Given the description of an element on the screen output the (x, y) to click on. 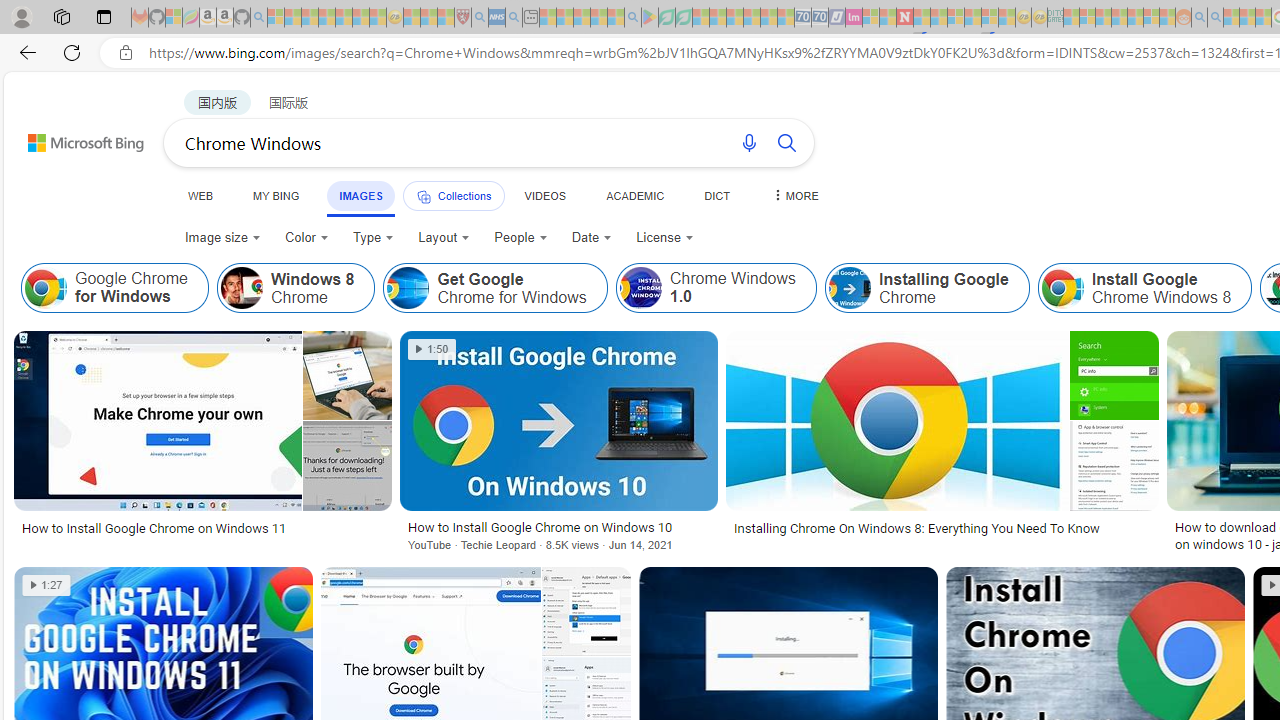
How to Install Google Chrome on Windows 10 (559, 527)
Terms of Use Agreement - Sleeping (666, 17)
How to Install Google Chrome on Windows 11 (153, 528)
Microsoft account | Privacy - Sleeping (1087, 17)
Layout (443, 237)
Windows 8 Chrome (296, 287)
NCL Adult Asthma Inhaler Choice Guideline - Sleeping (497, 17)
Install Google Chrome Windows 8 (1062, 287)
Recipes - MSN - Sleeping (411, 17)
How to Install Google Chrome on Windows 11 (202, 528)
